Given the description of an element on the screen output the (x, y) to click on. 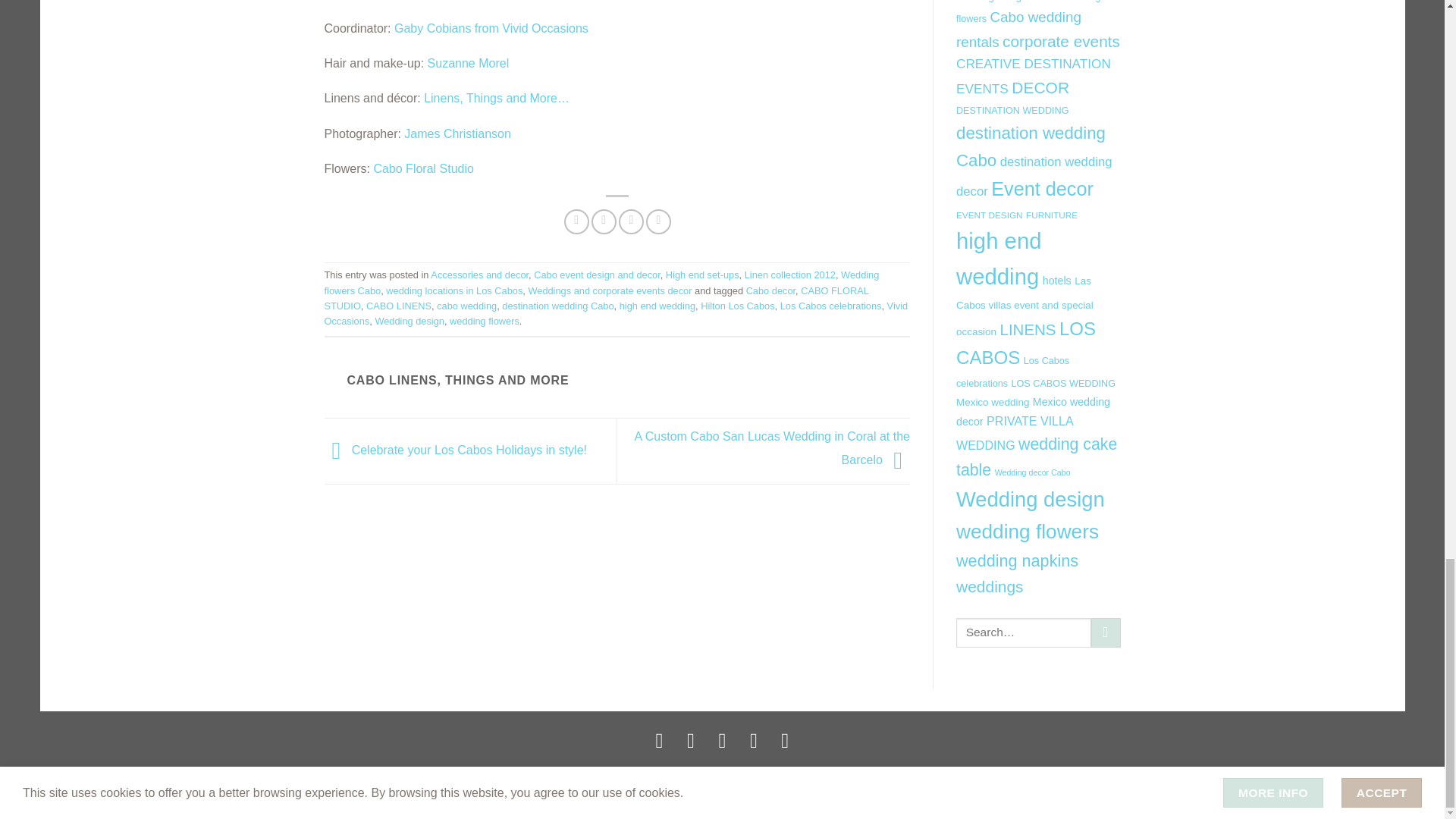
Suzanne Morel (468, 62)
Share on Twitter (603, 221)
Pin on Pinterest (658, 221)
Share on Facebook (576, 221)
Gaby Cobians from Vivid Occasions (491, 28)
Email to a Friend (630, 221)
